Given the description of an element on the screen output the (x, y) to click on. 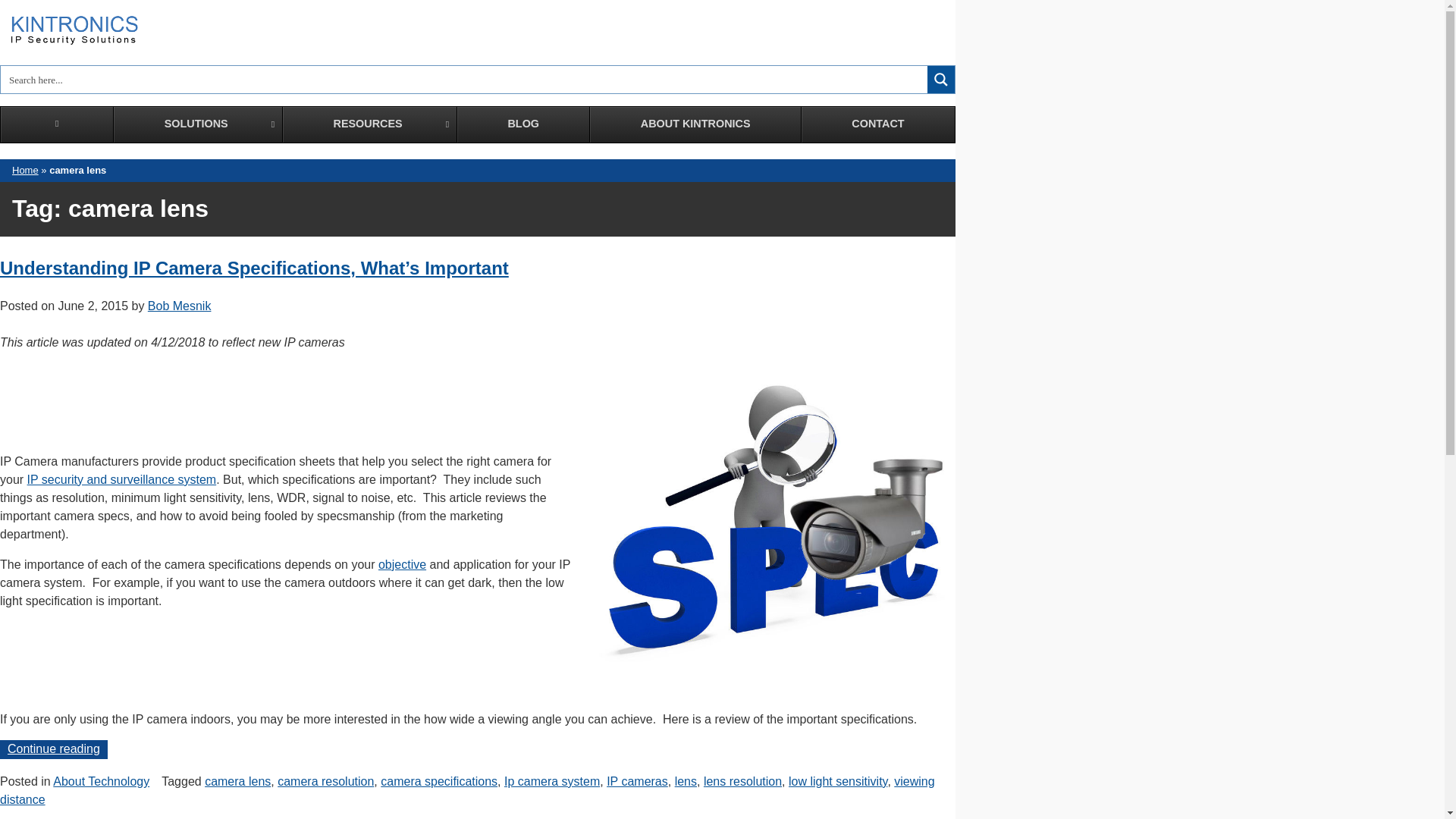
SOLUTIONS (477, 124)
